Given the description of an element on the screen output the (x, y) to click on. 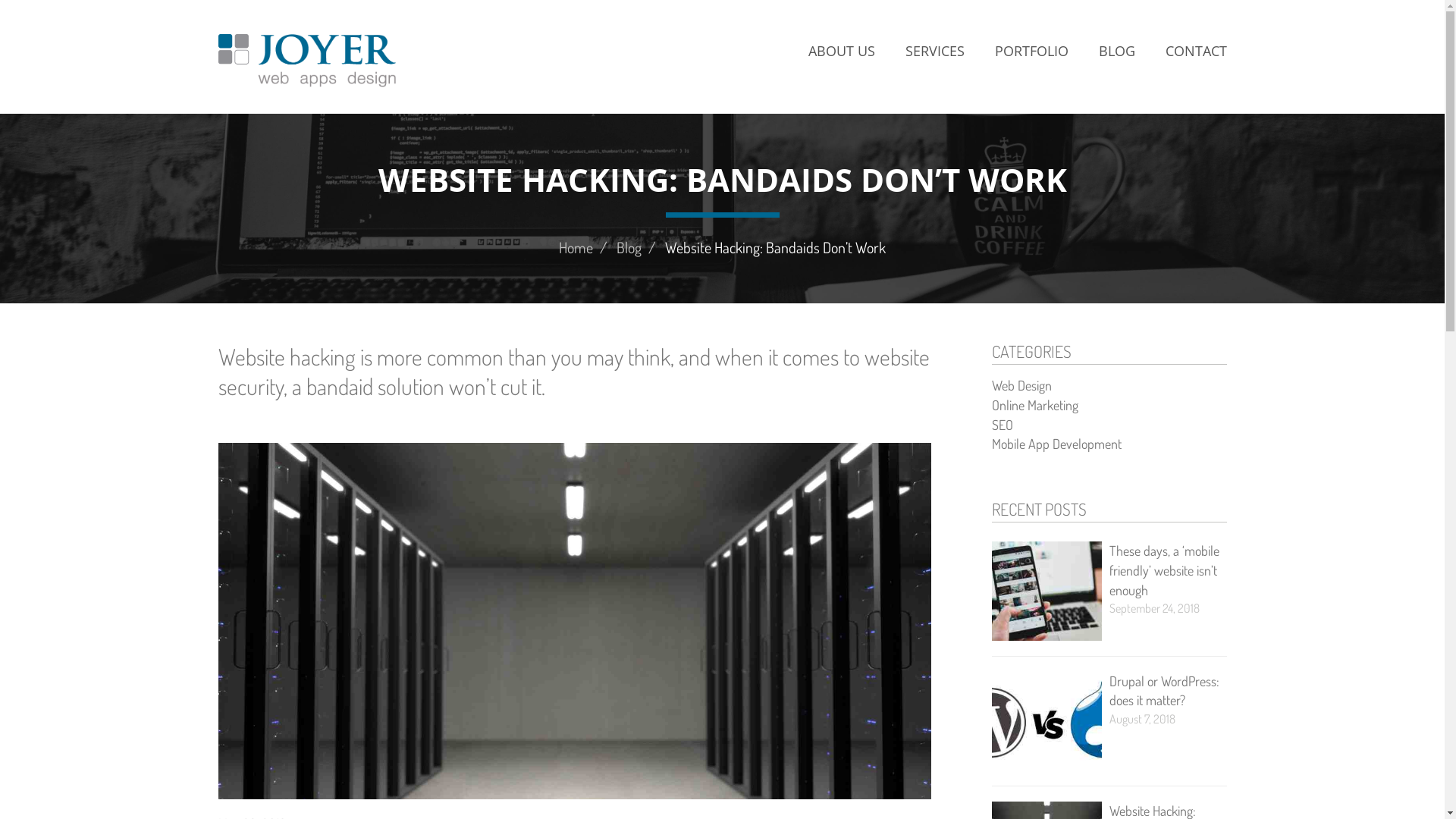
Home Element type: text (575, 247)
Image Element type: text (1046, 721)
CONTACT Element type: text (1187, 51)
PORTFOLIO Element type: text (1031, 51)
SEO Element type: text (1002, 424)
ABOUT US Element type: text (841, 51)
Blog Element type: text (628, 247)
Web Design Element type: text (1021, 384)
Image Element type: text (1046, 590)
BLOG Element type: text (1115, 51)
Online Marketing Element type: text (1034, 404)
SERVICES Element type: text (934, 51)
Drupal or WordPress: does it matter? Element type: text (1163, 690)
Skip to main content Element type: text (0, 0)
Home Element type: hover (307, 60)
Mobile App Development Element type: text (1056, 443)
